Given the description of an element on the screen output the (x, y) to click on. 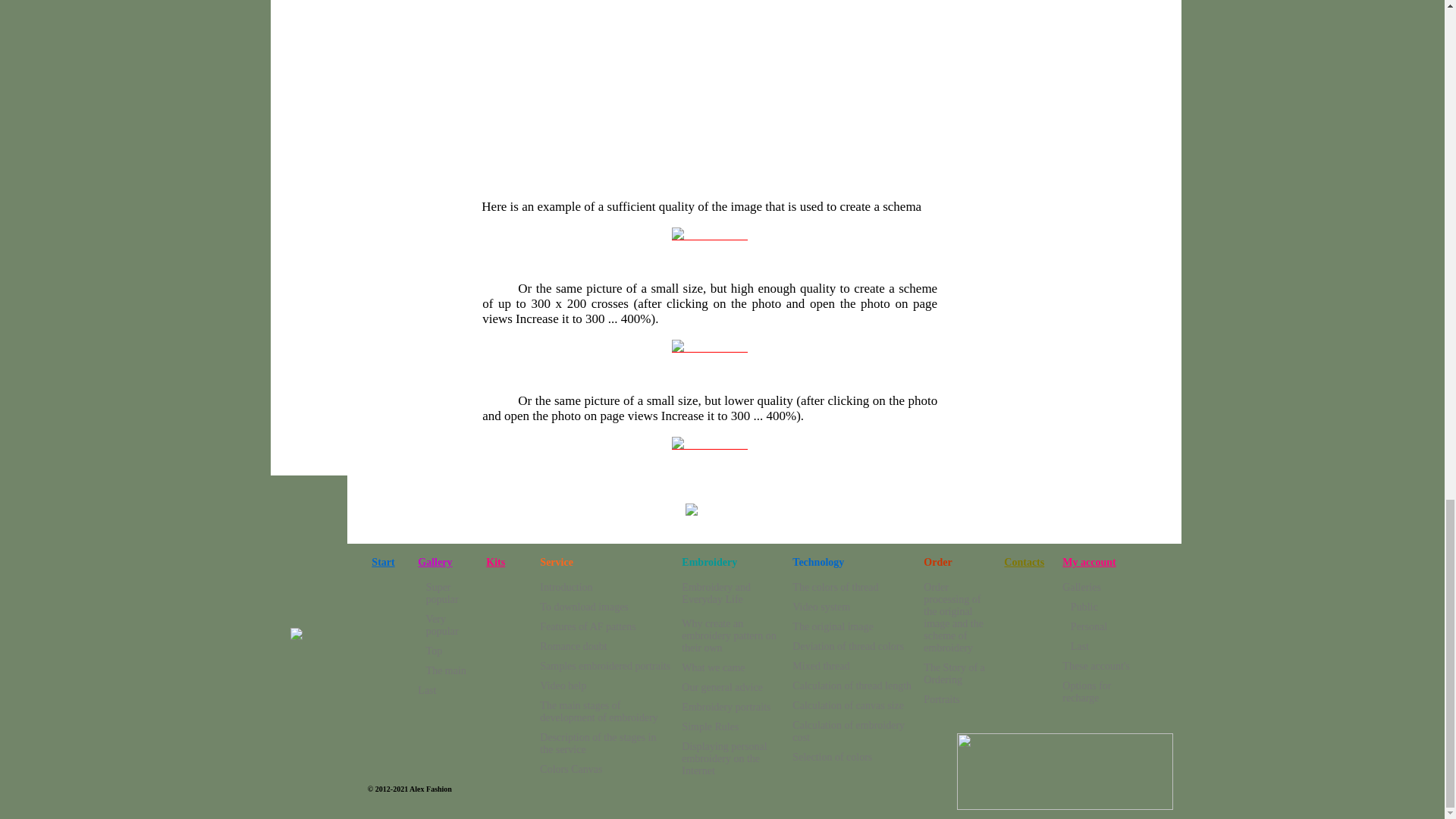
Kits (495, 562)
Gallery (434, 562)
My account (1088, 562)
Start (382, 562)
Service (437, 593)
Contacts (295, 635)
